Given the description of an element on the screen output the (x, y) to click on. 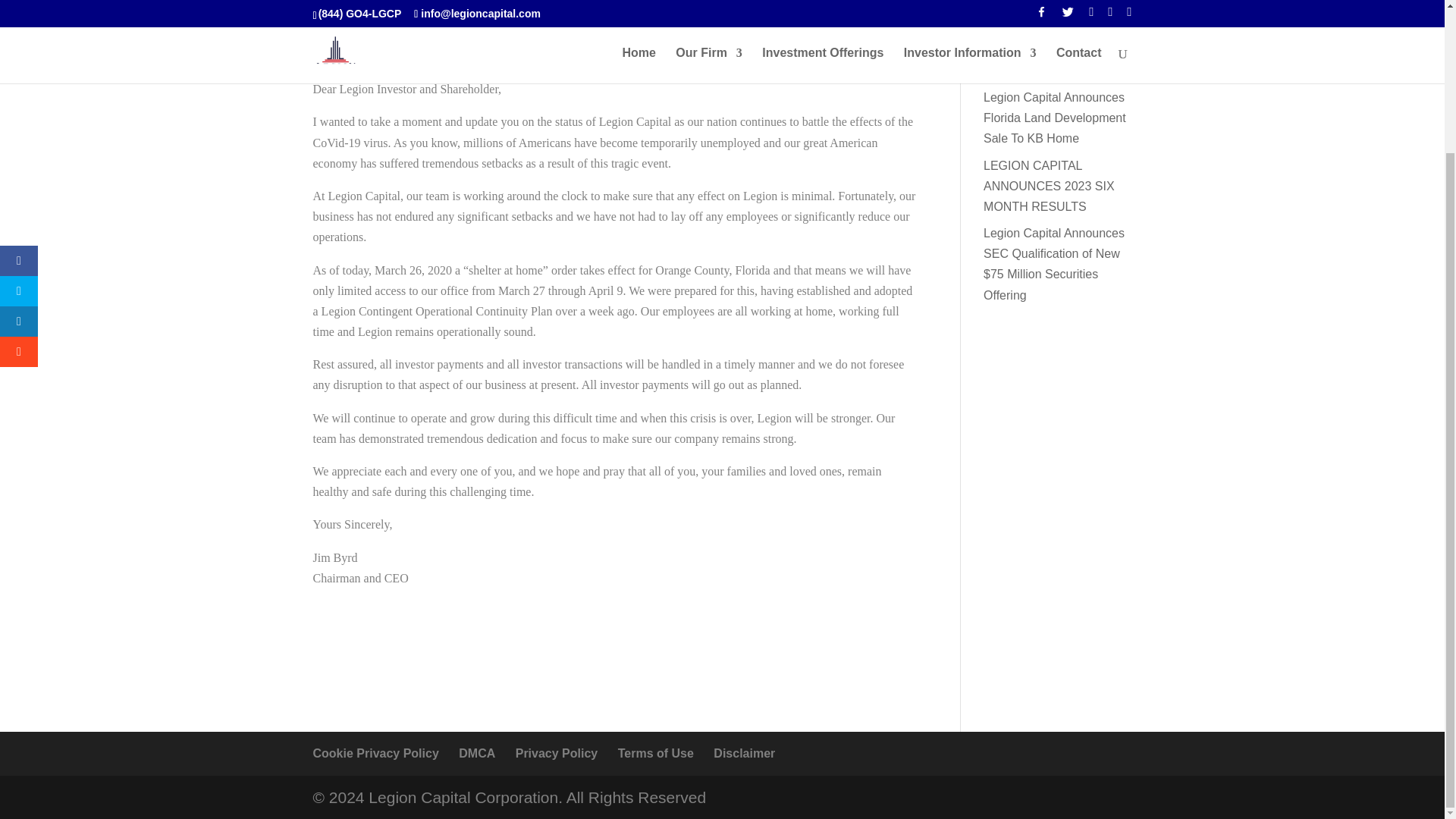
Privacy Policy (556, 753)
Cookie Privacy Policy (375, 753)
DMCA (476, 753)
Legion Capital Announces 2023 Financial Results (1054, 4)
LEGION CAPITAL ANNOUNCES 2023 SIX MONTH RESULTS (1049, 185)
Disclaimer (743, 753)
Terms of Use (655, 753)
